Given the description of an element on the screen output the (x, y) to click on. 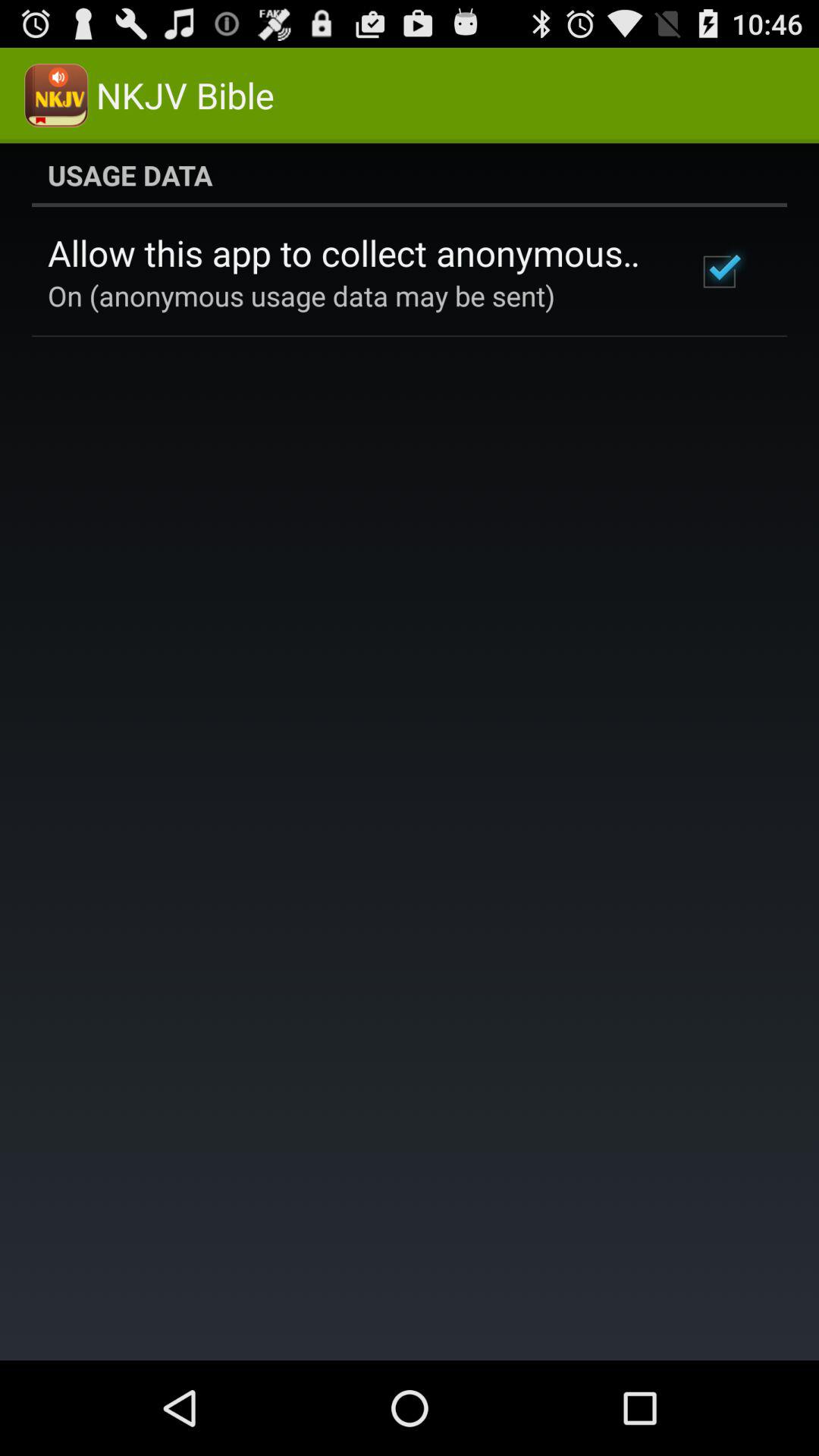
turn on allow this app (351, 252)
